Given the description of an element on the screen output the (x, y) to click on. 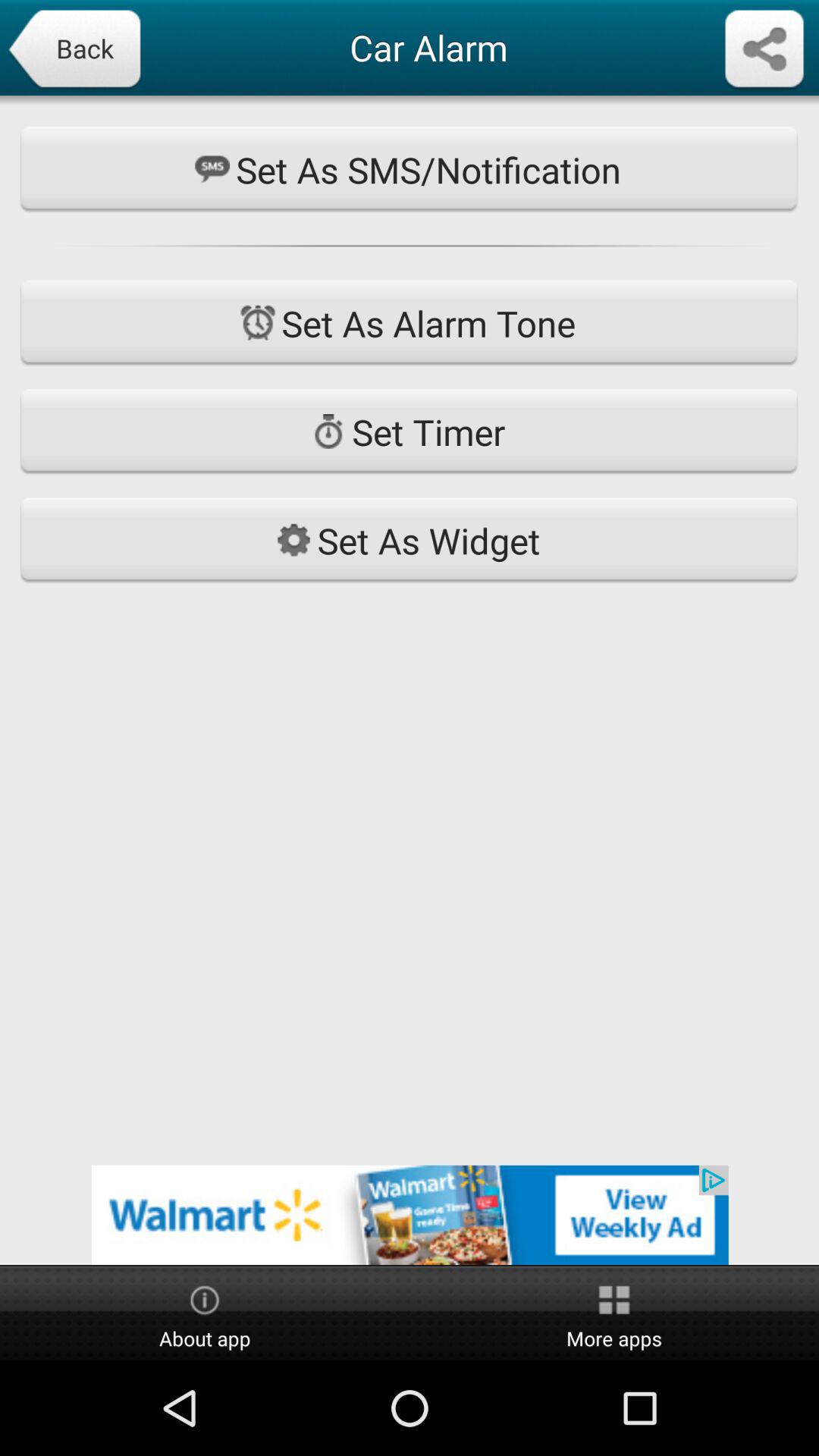
click on walmart advertisement (409, 1214)
